Given the description of an element on the screen output the (x, y) to click on. 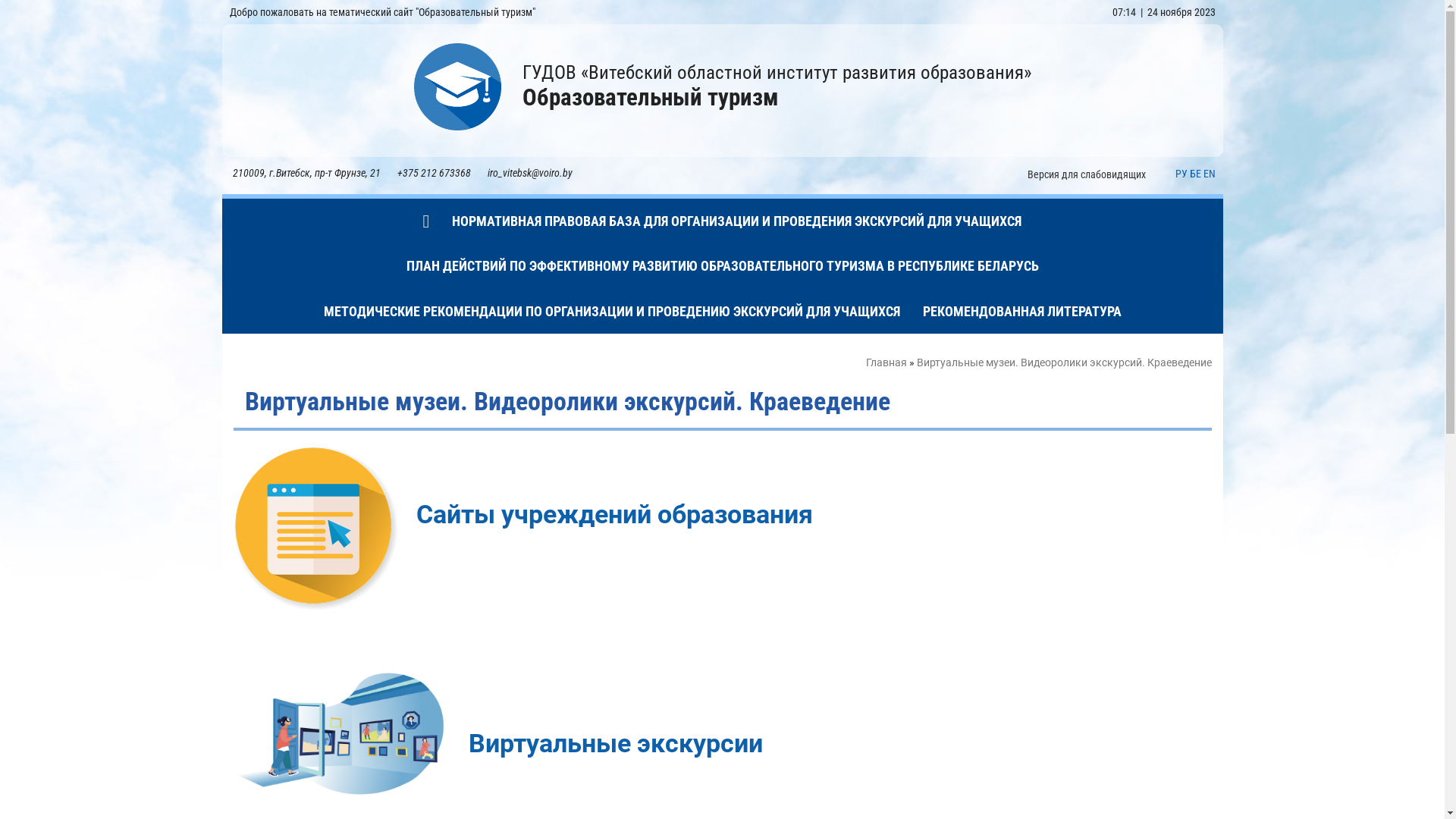
EN Element type: text (1208, 173)
